Given the description of an element on the screen output the (x, y) to click on. 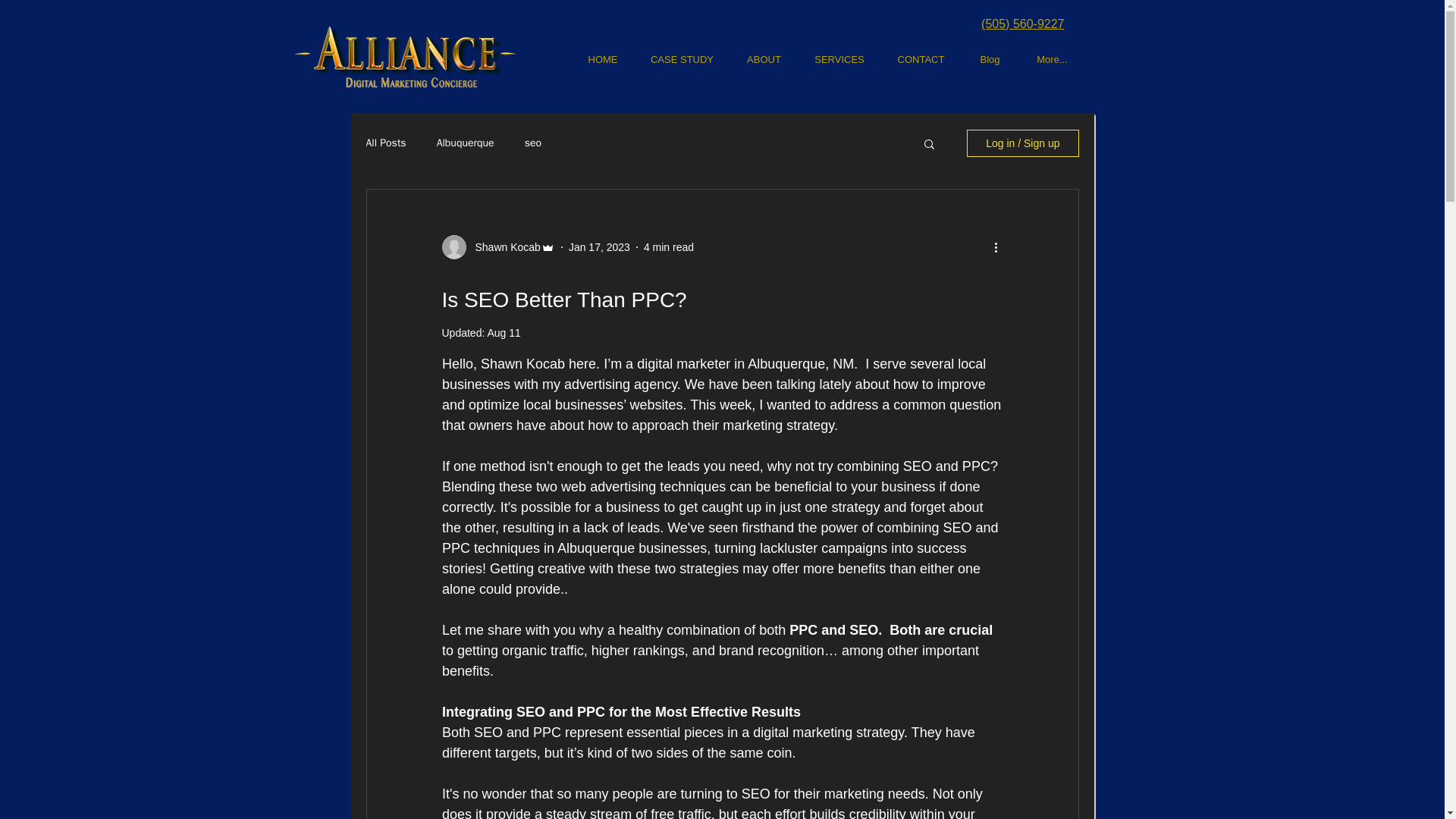
ABOUT (764, 59)
Albuquerque (465, 142)
4 min read (668, 246)
seo (532, 142)
Shawn Kocab (502, 247)
CASE STUDY (681, 59)
All Posts (385, 142)
Jan 17, 2023 (599, 246)
CONTACT (919, 59)
SERVICES (839, 59)
